Given the description of an element on the screen output the (x, y) to click on. 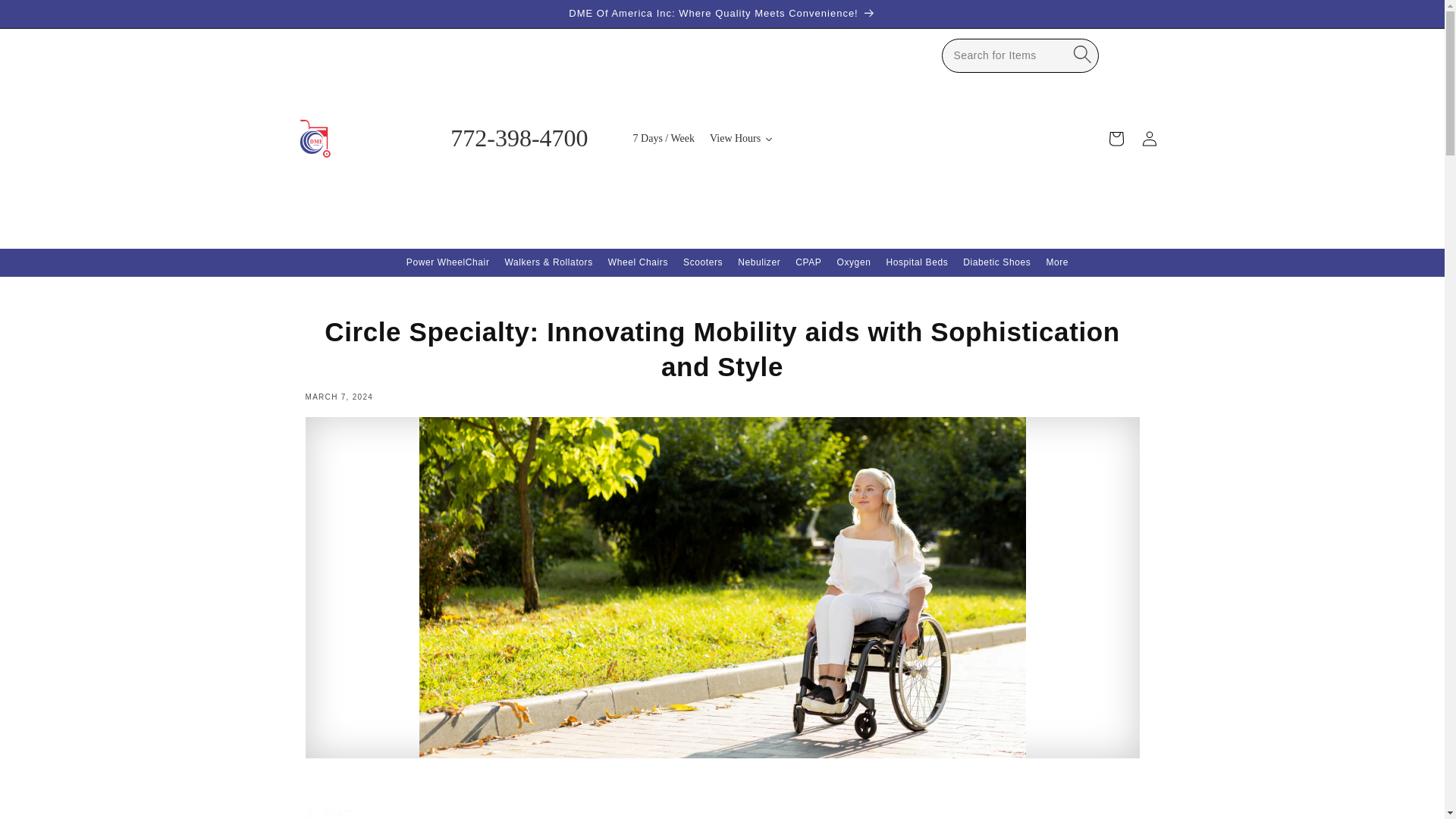
Share (721, 807)
Log in (1149, 138)
772-398-4700 (516, 138)
Cart (1115, 138)
772-398-4700 (516, 138)
Power WheelChair (447, 262)
Wheel Chairs (637, 262)
Skip to content (45, 17)
View Hours (740, 138)
